Given the description of an element on the screen output the (x, y) to click on. 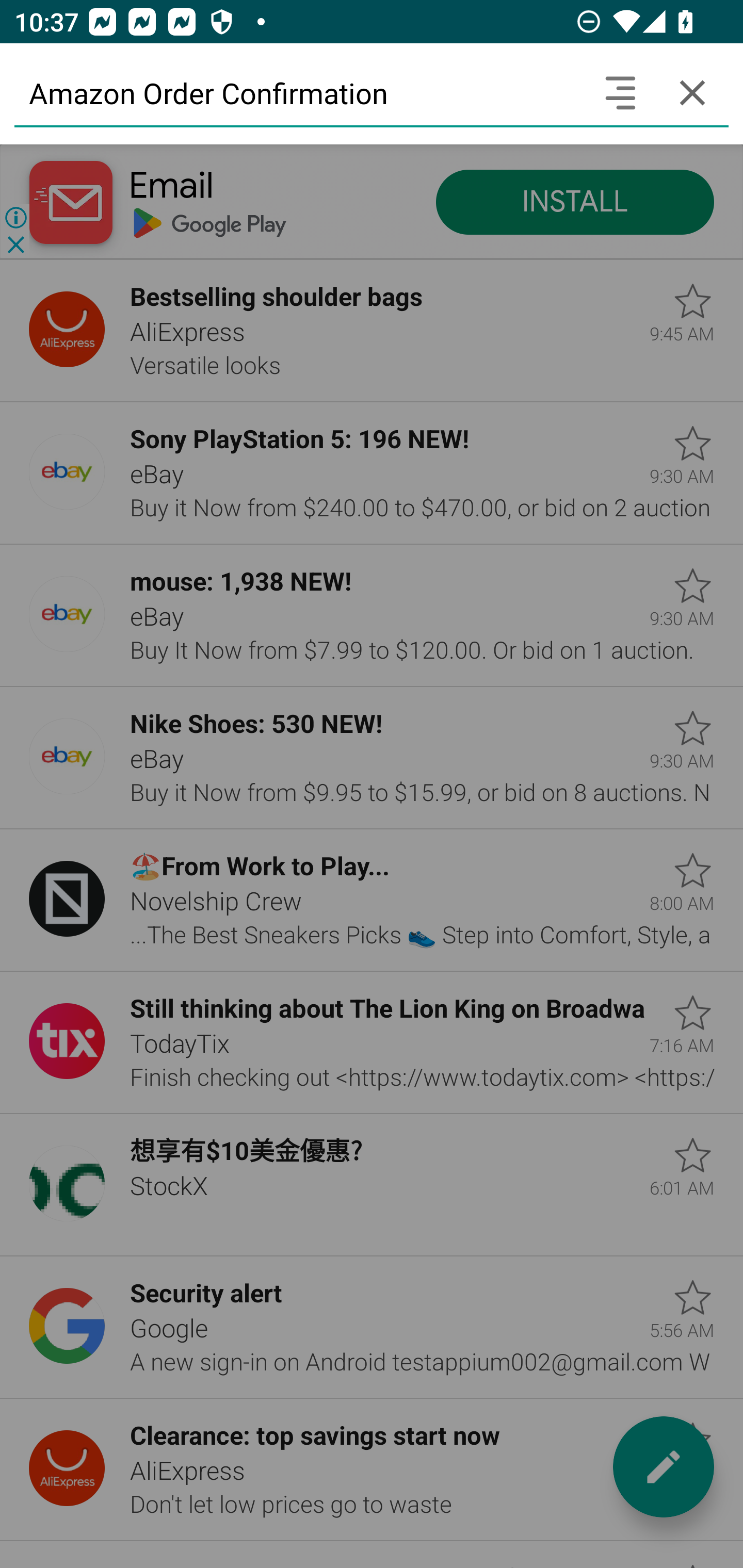
Amazon Order Confirmation (298, 92)
Search headers and text (619, 92)
Cancel (692, 92)
